Given the description of an element on the screen output the (x, y) to click on. 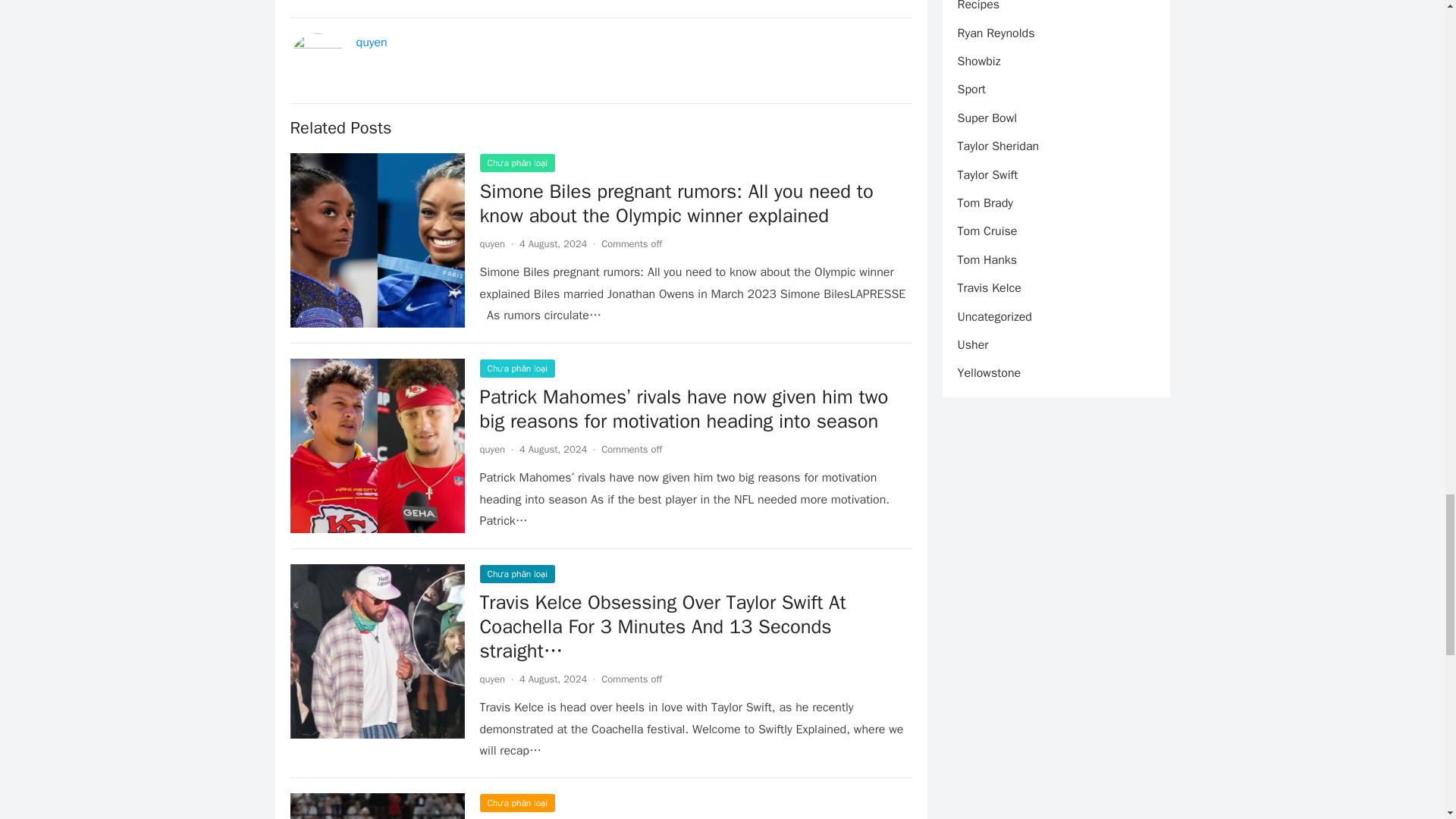
Posts by quyen (492, 449)
Posts by quyen (492, 678)
Posts by quyen (492, 243)
